Given the description of an element on the screen output the (x, y) to click on. 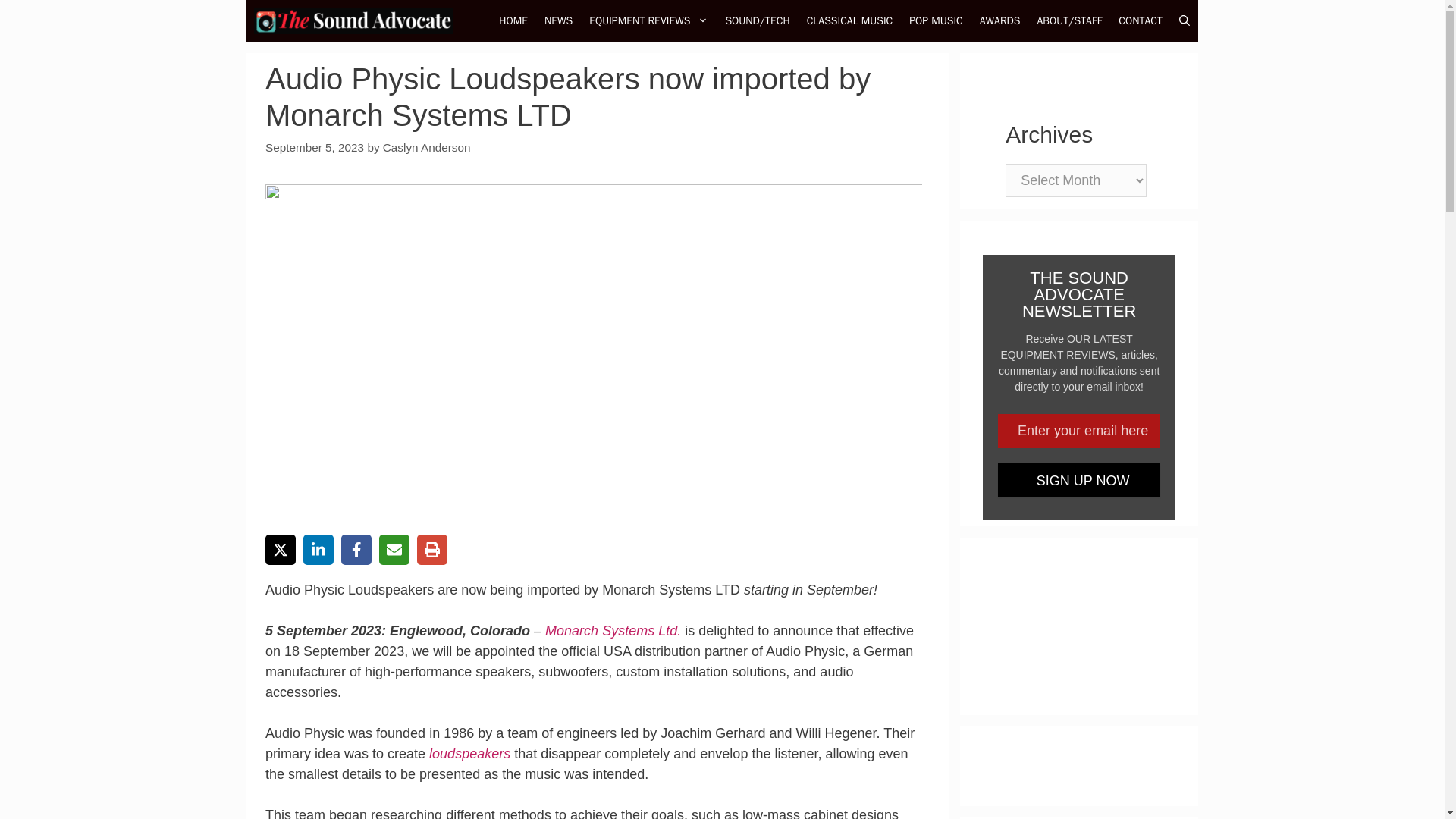
loudspeakers (470, 753)
Caslyn Anderson (426, 146)
The Sound Advocate (352, 20)
EQUIPMENT REVIEWS (648, 20)
Monarch Systems Ltd. (612, 630)
HOME (512, 20)
View all posts by Caslyn Anderson (426, 146)
Sign Up Now (1078, 480)
NEWS (557, 20)
POP MUSIC (936, 20)
